Given the description of an element on the screen output the (x, y) to click on. 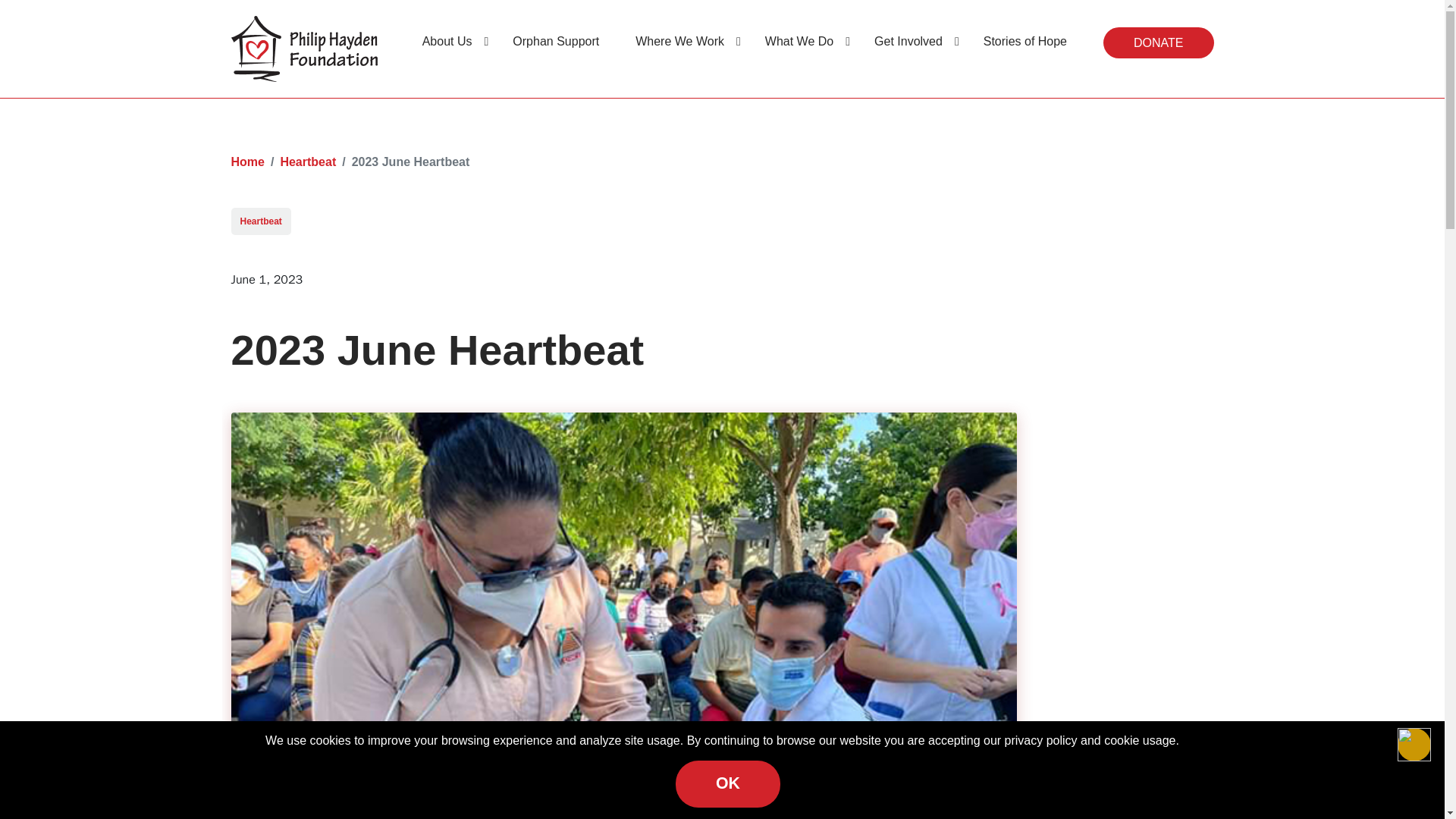
About Us (455, 41)
Home (246, 161)
Orphan Support (561, 41)
DONATE (1157, 42)
Accessibility Menu (1414, 744)
What We Do (807, 41)
Get Involved (917, 41)
Where We Work (687, 41)
Donate (1157, 42)
OK (727, 783)
Heartbeat (259, 221)
Stories of Hope (1031, 41)
Heartbeat (307, 161)
